Given the description of an element on the screen output the (x, y) to click on. 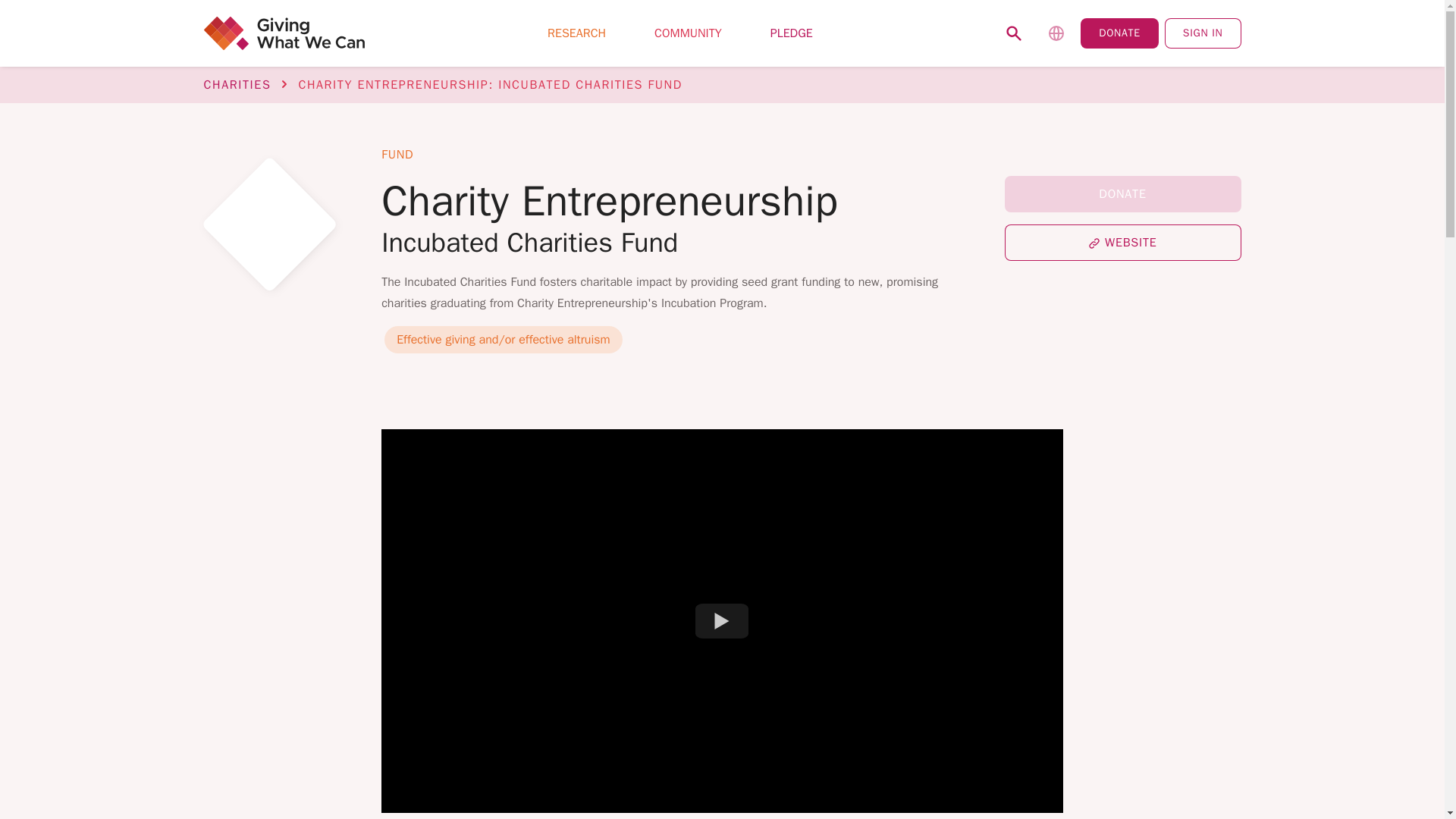
Search (1013, 33)
PLEDGE (791, 33)
CHARITY ENTREPRENEURSHIP: INCUBATED CHARITIES FUND (489, 84)
DONATE (1122, 194)
SIGN IN (1202, 33)
RESEARCH (576, 33)
DONATE (1119, 33)
WEBSITE (1122, 242)
COMMUNITY (687, 33)
CHARITIES (236, 84)
